Given the description of an element on the screen output the (x, y) to click on. 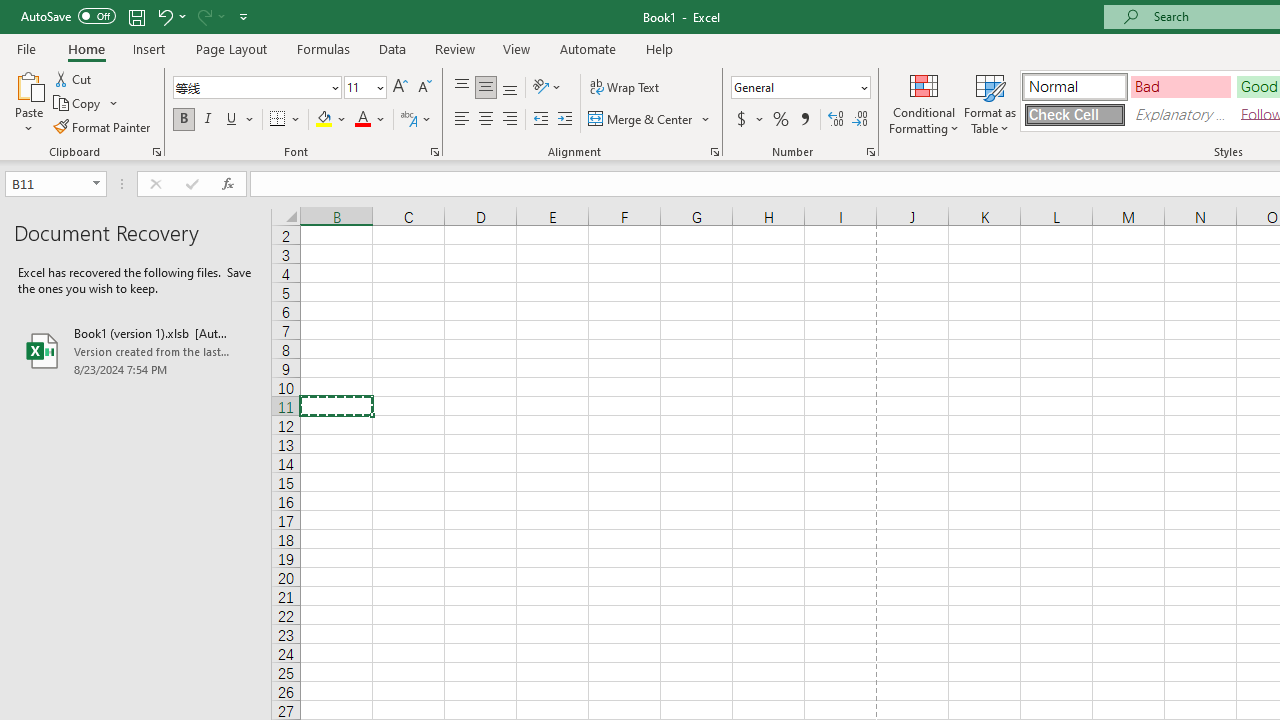
Bottom Border (278, 119)
Format Cell Number (870, 151)
Paste (28, 84)
Check Cell (1074, 114)
